Given the description of an element on the screen output the (x, y) to click on. 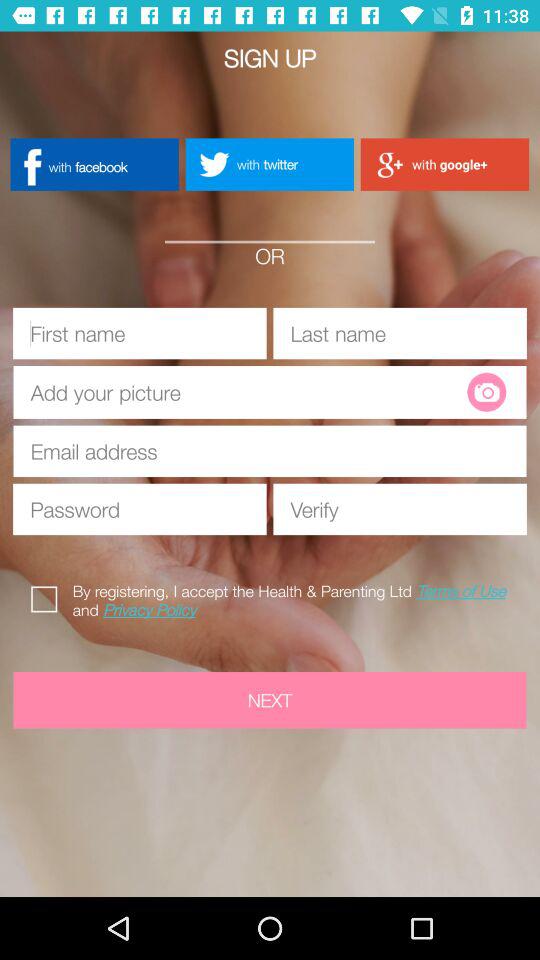
reenter password (399, 509)
